Given the description of an element on the screen output the (x, y) to click on. 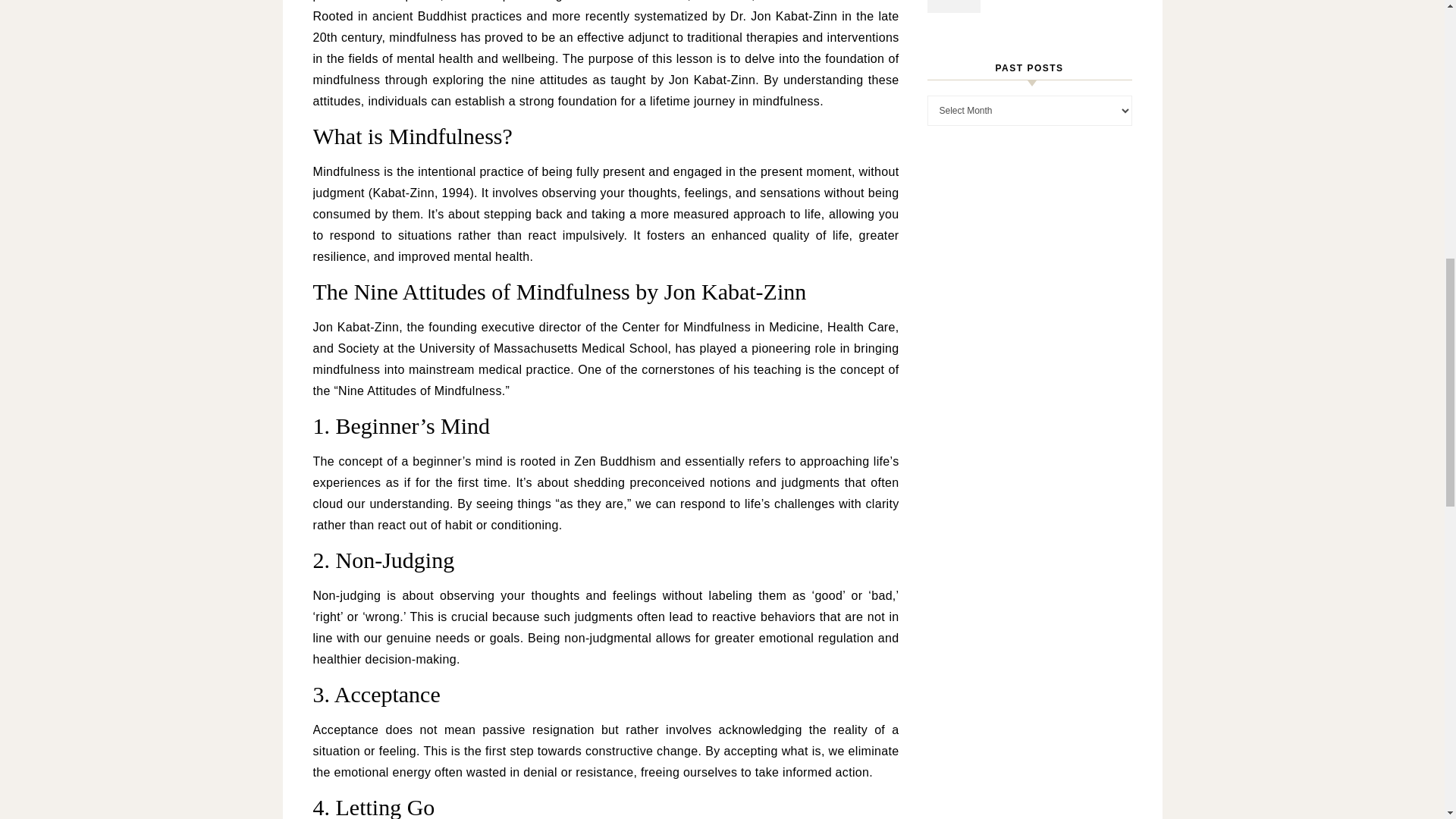
October 7 (1058, 7)
